Given the description of an element on the screen output the (x, y) to click on. 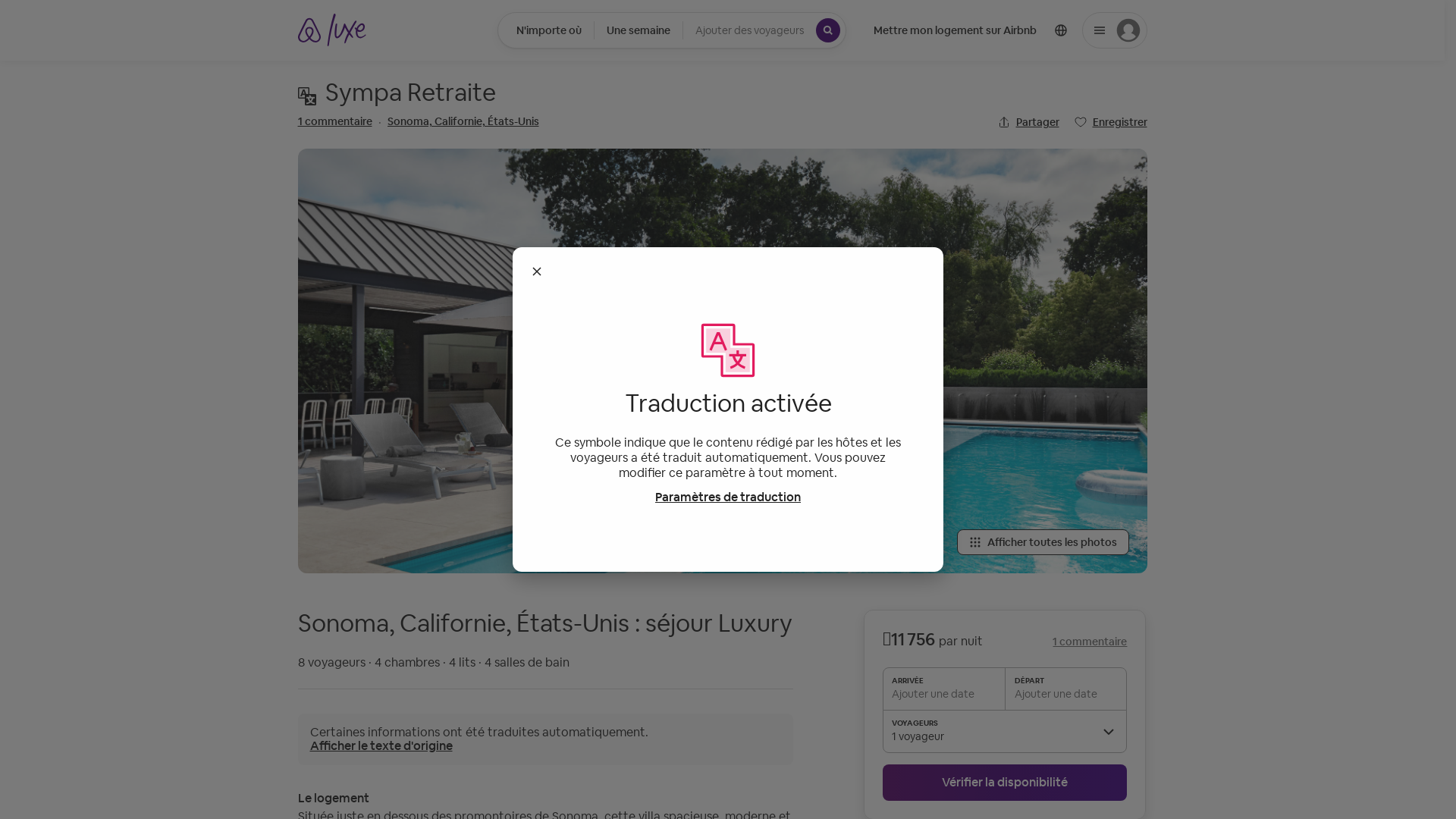
Partager Element type: text (1028, 121)
1 commentaire Element type: text (334, 120)
Afficher le texte d'origine Element type: text (380, 746)
Voyageurs
Ajouter des voyageurs Element type: text (764, 30)
Enregistrer Element type: text (1109, 121)
1 commentaire Element type: text (1089, 641)
Mettre mon logement sur Airbnb Element type: text (954, 30)
Afficher toutes les photos Element type: text (1043, 542)
